Given the description of an element on the screen output the (x, y) to click on. 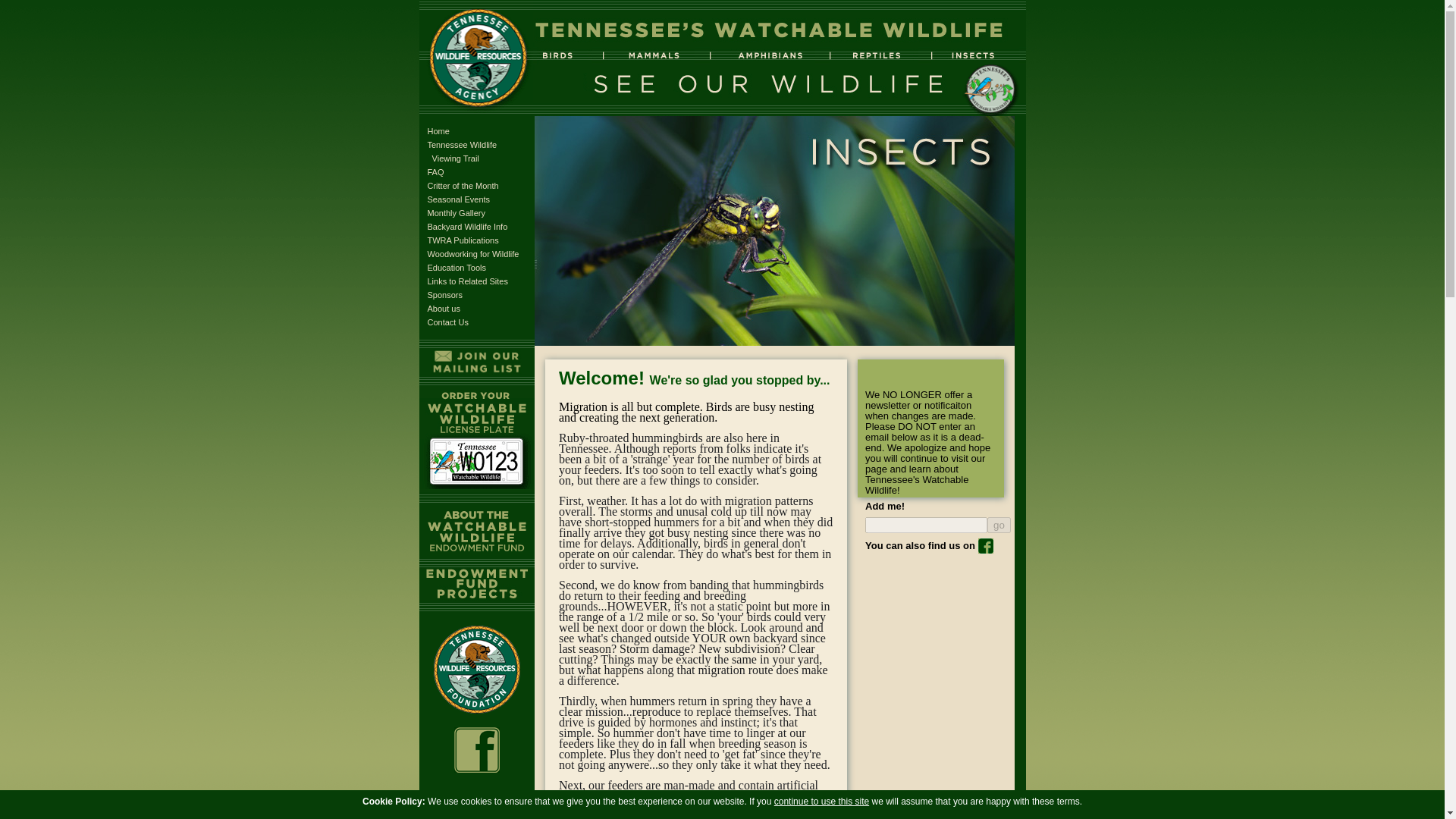
Contact Us (448, 321)
Education Tools (457, 266)
Critter of the Month (463, 185)
Links to Related Sites (468, 280)
FAQ (436, 171)
TWRA Publications (462, 151)
Home (463, 239)
Backyard Wildlife Info (438, 130)
Woodworking for Wildlife (468, 225)
Monthly Gallery (473, 253)
go (456, 212)
Sponsors (998, 524)
go (445, 294)
Seasonal Events (998, 524)
